Given the description of an element on the screen output the (x, y) to click on. 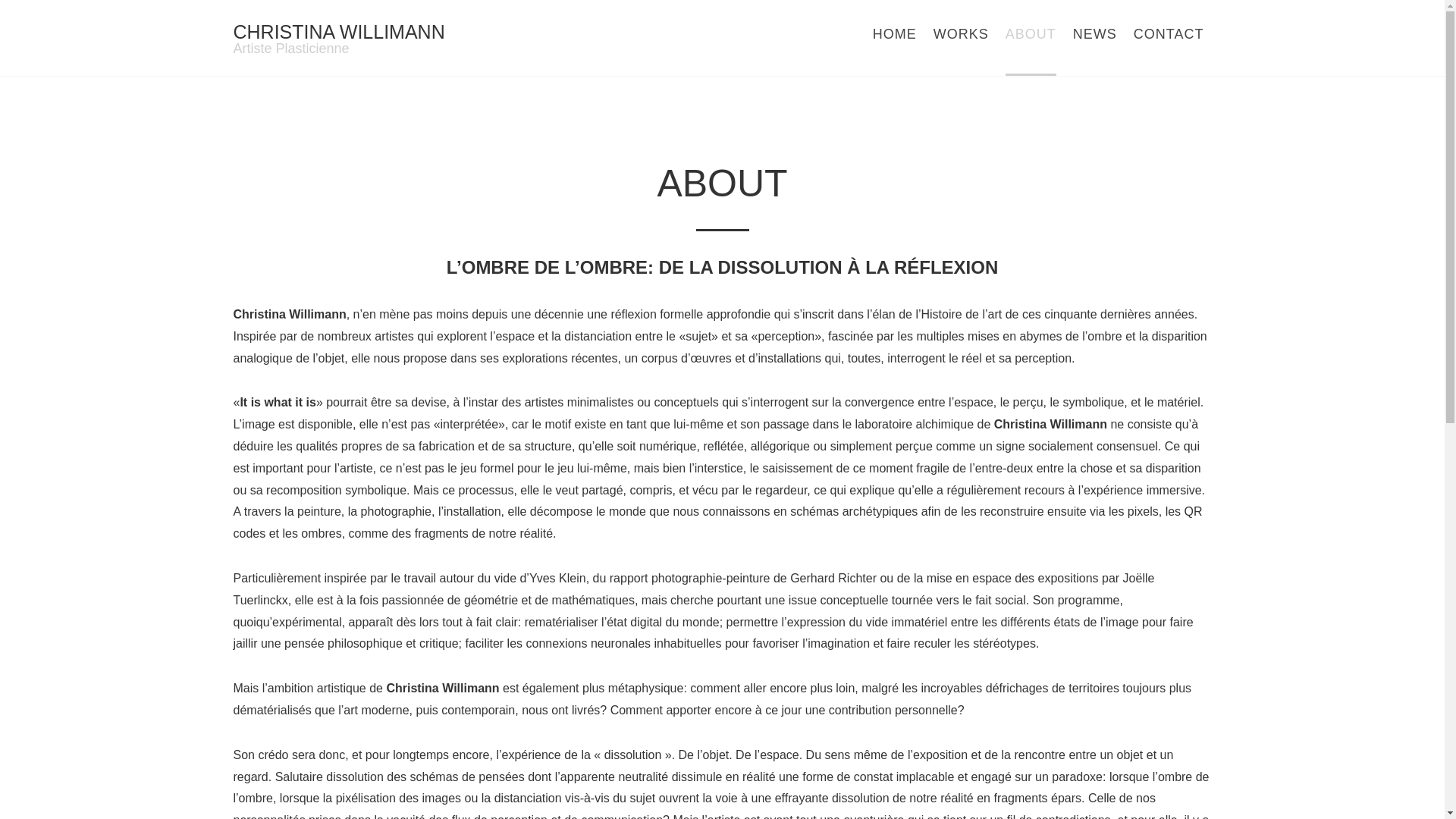
CONTACT Element type: text (1168, 37)
HOME Element type: text (894, 37)
NEWS Element type: text (1094, 37)
CHRISTINA WILLIMANN
Artiste Plasticienne Element type: text (339, 38)
WORKS Element type: text (960, 37)
ABOUT Element type: text (1030, 37)
